Given the description of an element on the screen output the (x, y) to click on. 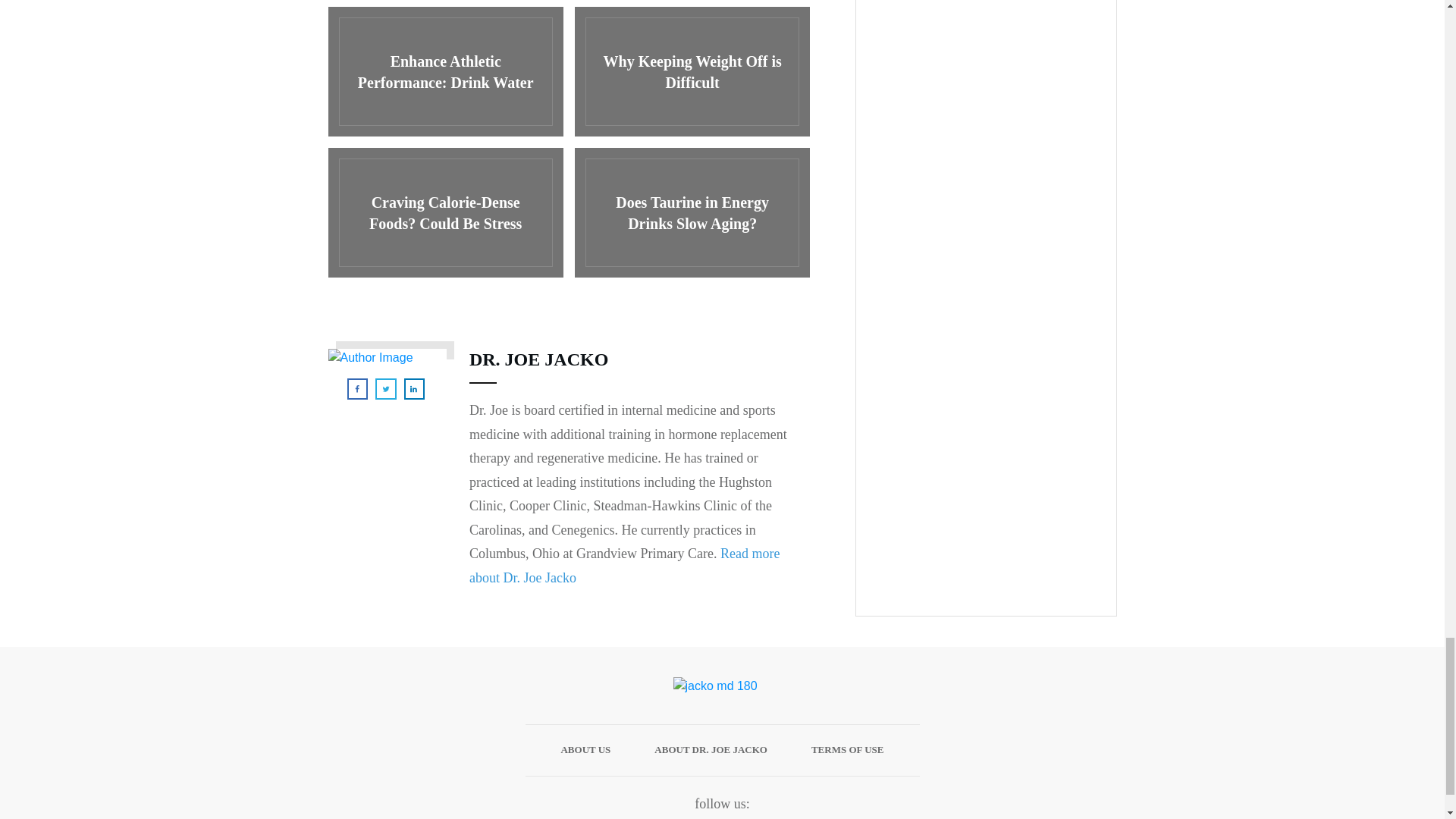
Read more about Dr. Joe Jacko (623, 565)
Enhance Athletic Performance: Drink Water (444, 71)
Why Keeping Weight Off is Difficult (692, 71)
Does Taurine in Energy Drinks Slow Aging? (692, 212)
Craving Calorie-Dense Foods? Could Be Stress (444, 212)
